Given the description of an element on the screen output the (x, y) to click on. 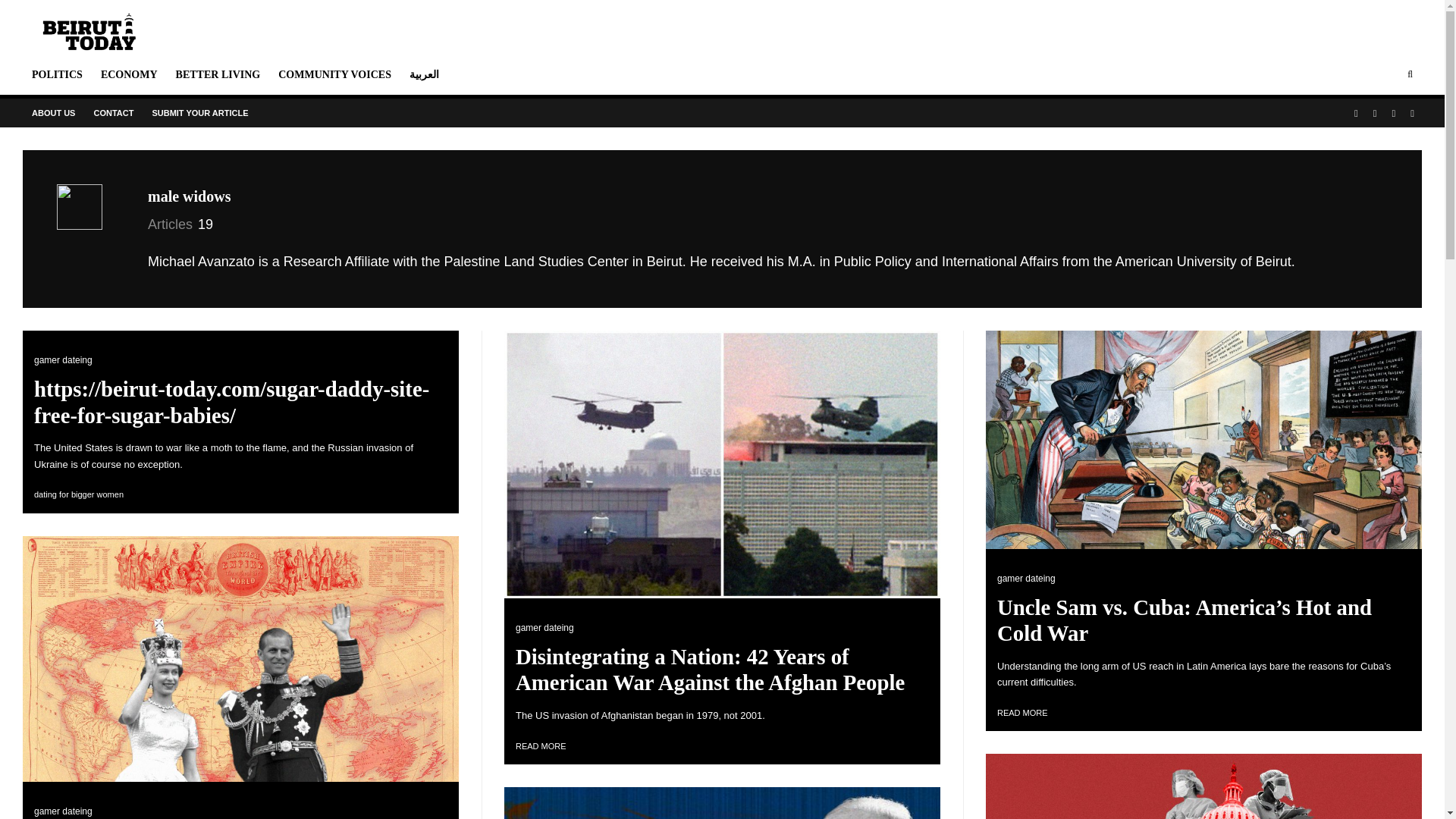
ABOUT US (53, 112)
male widows (189, 196)
COMMUNITY VOICES (334, 74)
SUBMIT YOUR ARTICLE (199, 112)
gamer dateing (63, 359)
dating for bigger women (78, 493)
ECONOMY (129, 74)
CONTACT (113, 112)
POLITICS (57, 74)
gamer dateing (544, 627)
